Given the description of an element on the screen output the (x, y) to click on. 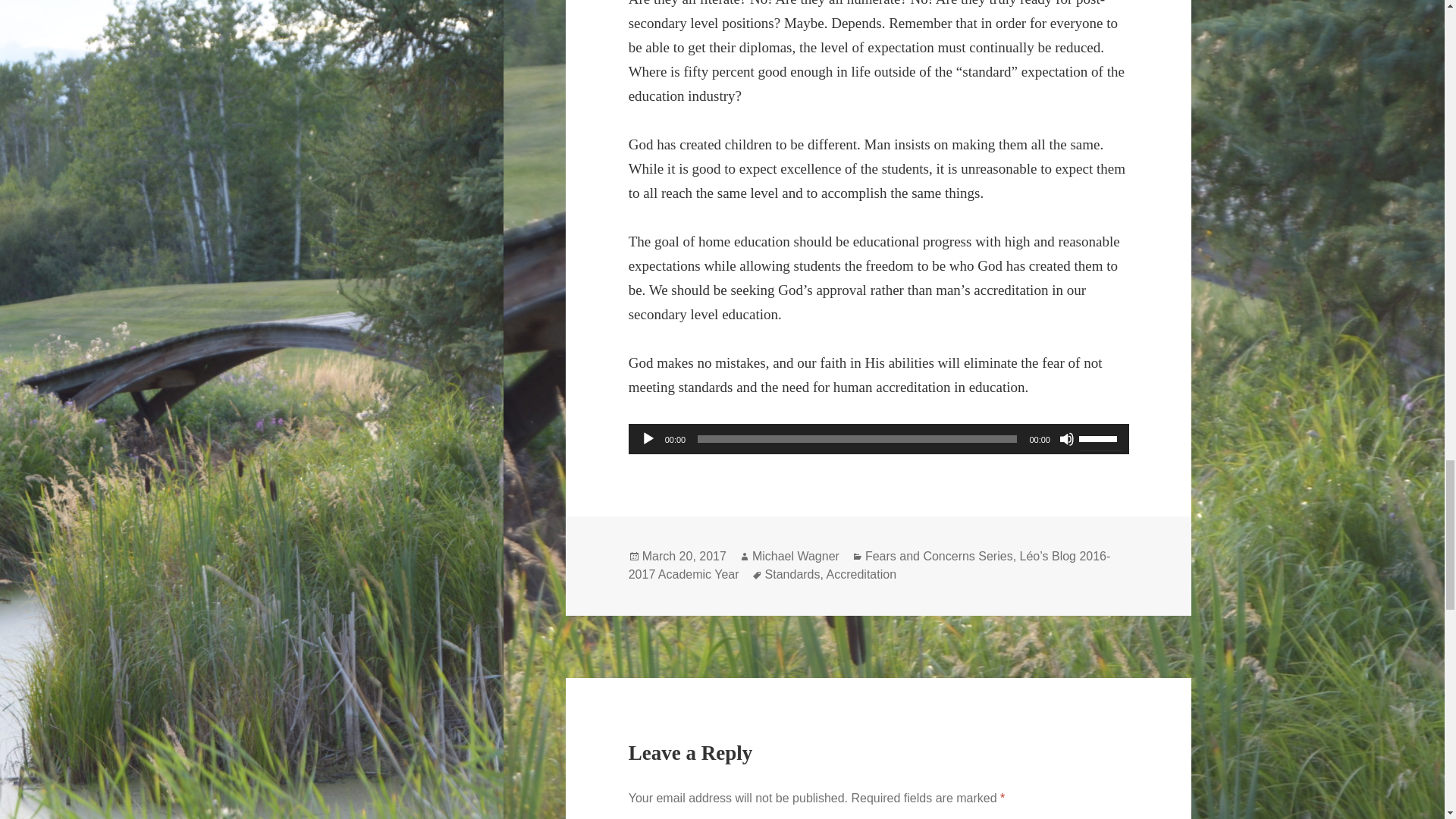
Play (648, 438)
Michael Wagner (796, 556)
Fears and Concerns Series (938, 556)
March 20, 2017 (684, 556)
Mute (1066, 438)
